Given the description of an element on the screen output the (x, y) to click on. 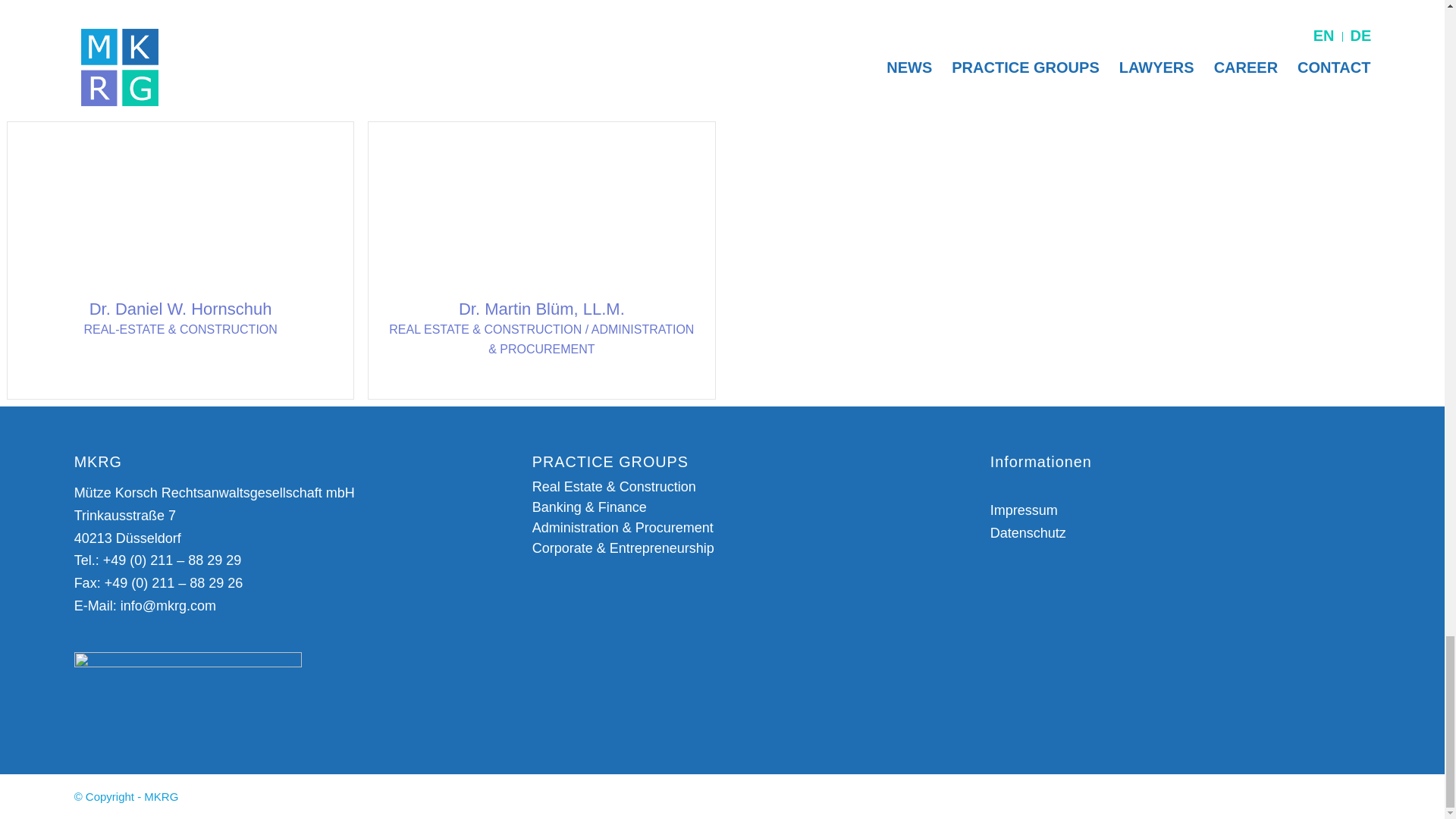
Datenschutz (1027, 532)
Impressum (1024, 509)
